Given the description of an element on the screen output the (x, y) to click on. 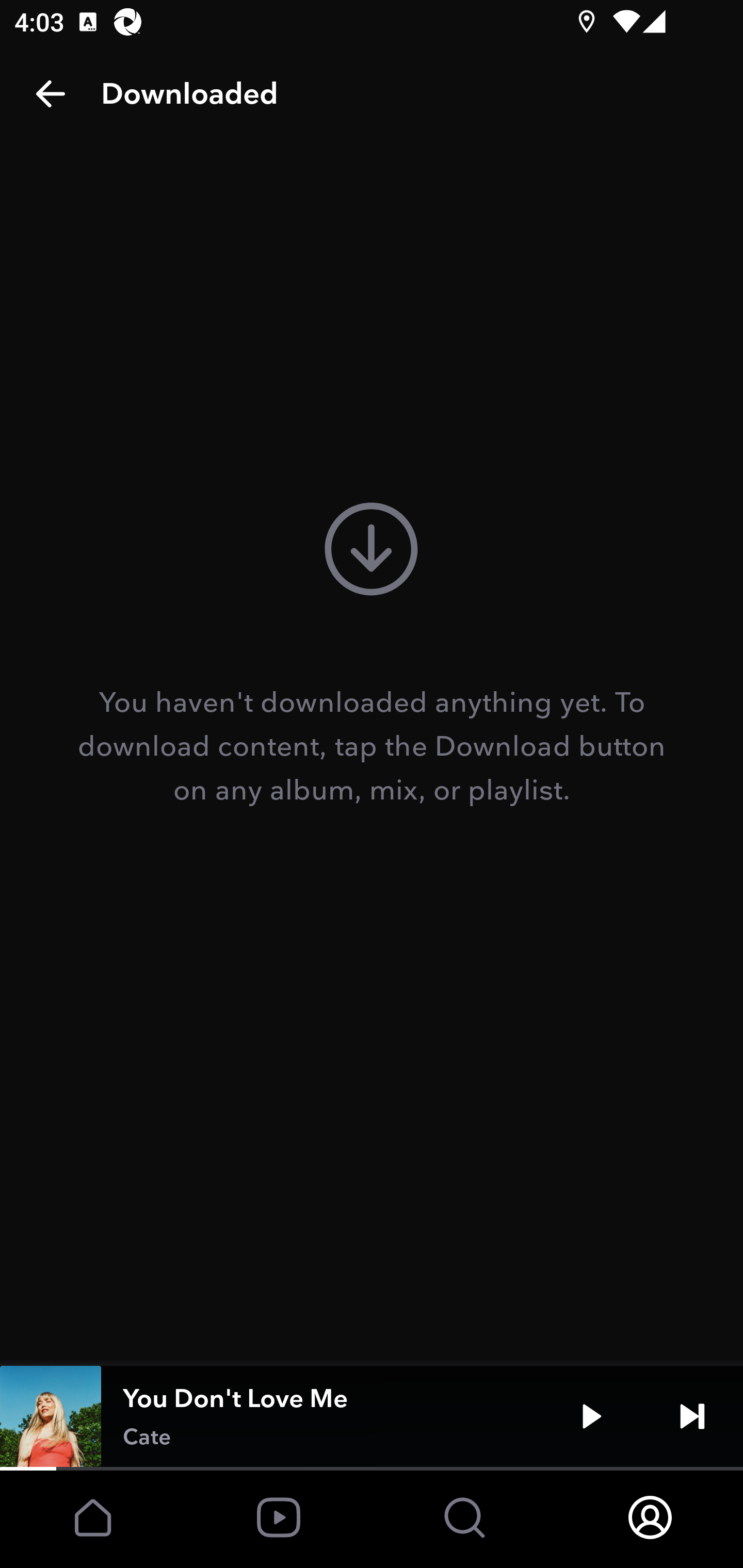
Back (50, 93)
You Don't Love Me Cate Play (371, 1416)
Play (590, 1416)
